Given the description of an element on the screen output the (x, y) to click on. 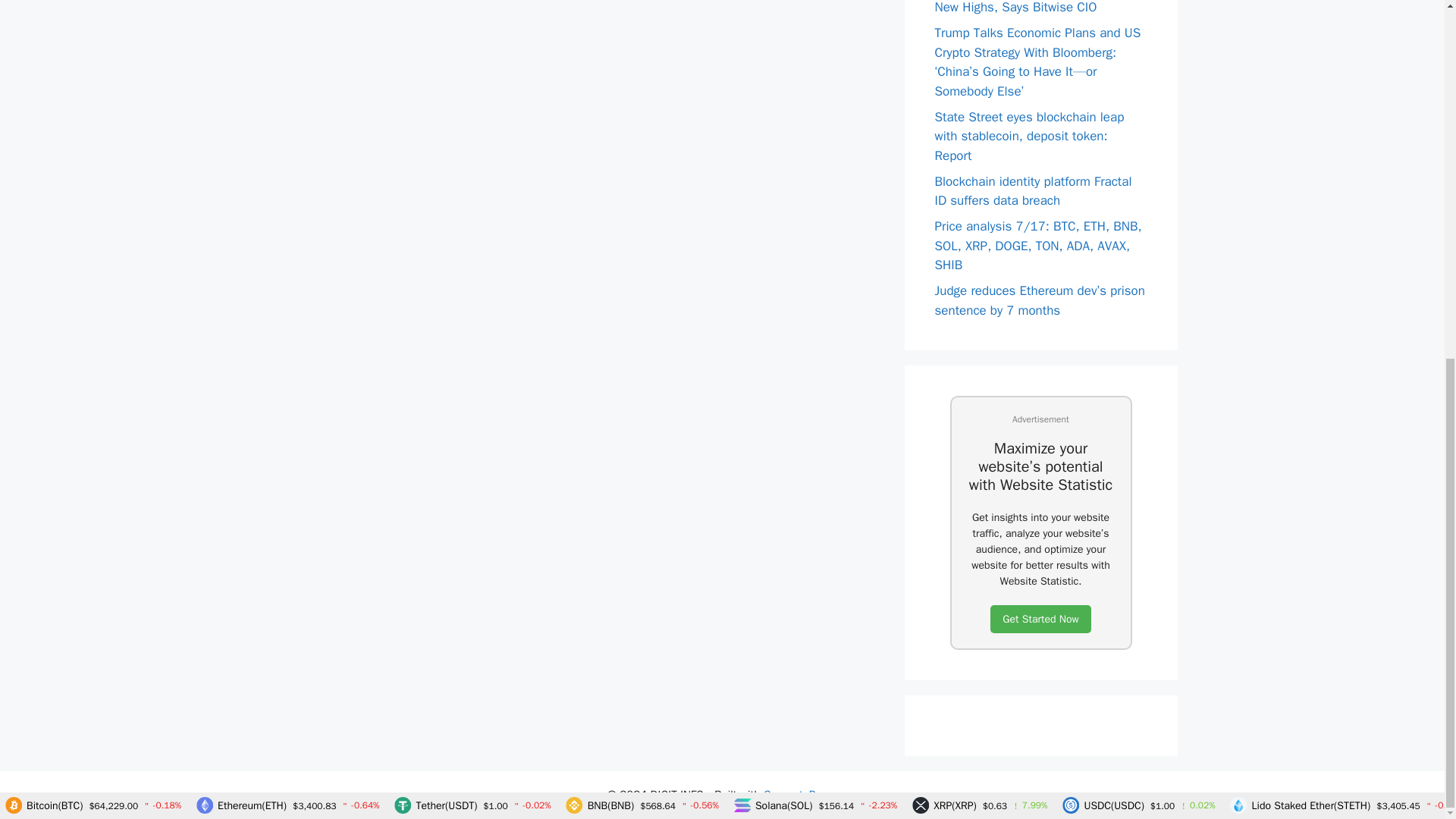
GeneratePress (799, 794)
Get Started Now (1040, 619)
Blockchain identity platform Fractal ID suffers data breach (1032, 190)
